Given the description of an element on the screen output the (x, y) to click on. 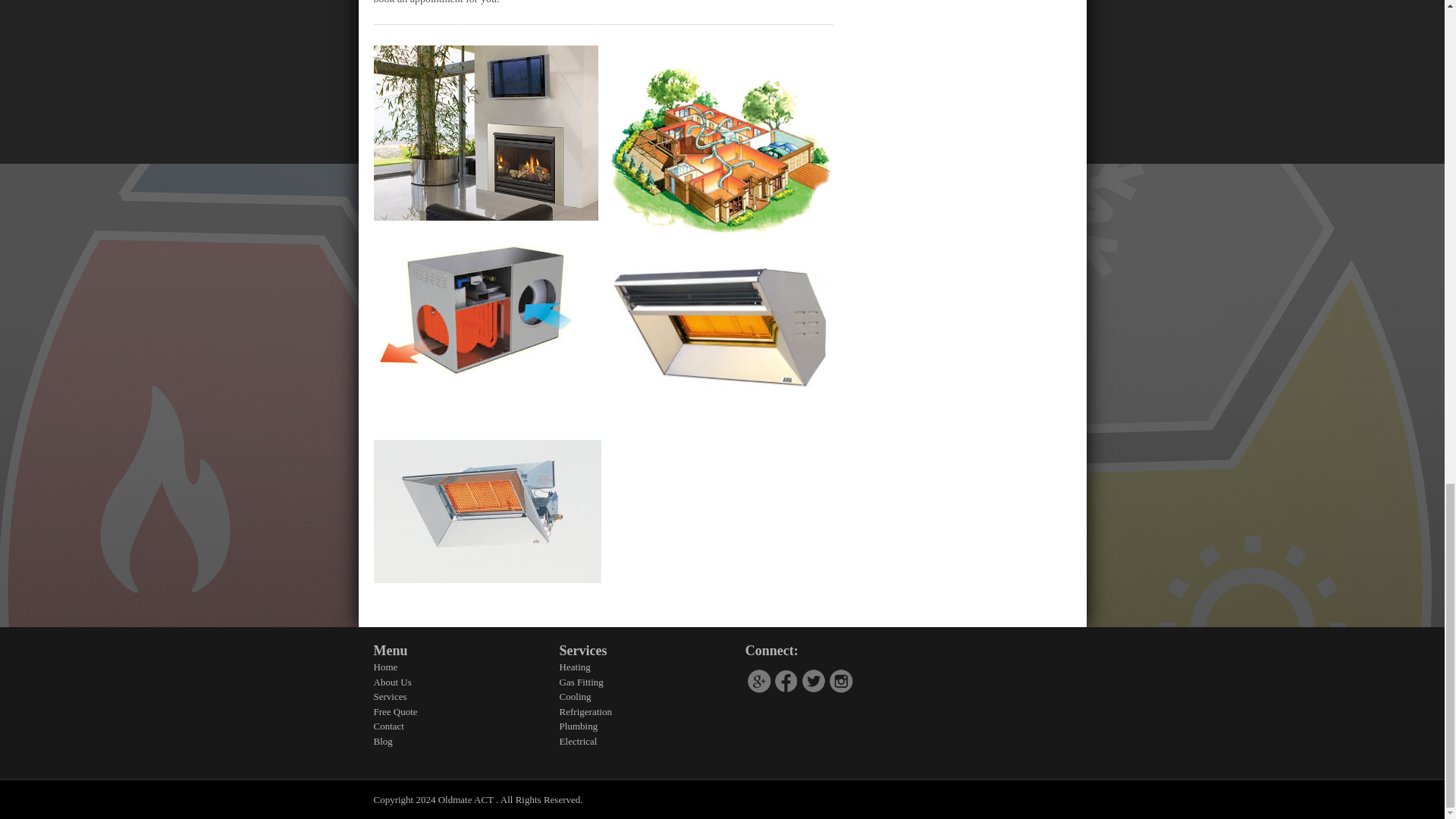
Instagram (840, 679)
Instagram (840, 680)
Duct Schematics (720, 150)
Gas Heater (720, 324)
Facebook (785, 680)
Twitter (813, 680)
Facebook (786, 679)
Heating Appliance Repair (485, 511)
Google (759, 679)
Google (758, 680)
